Given the description of an element on the screen output the (x, y) to click on. 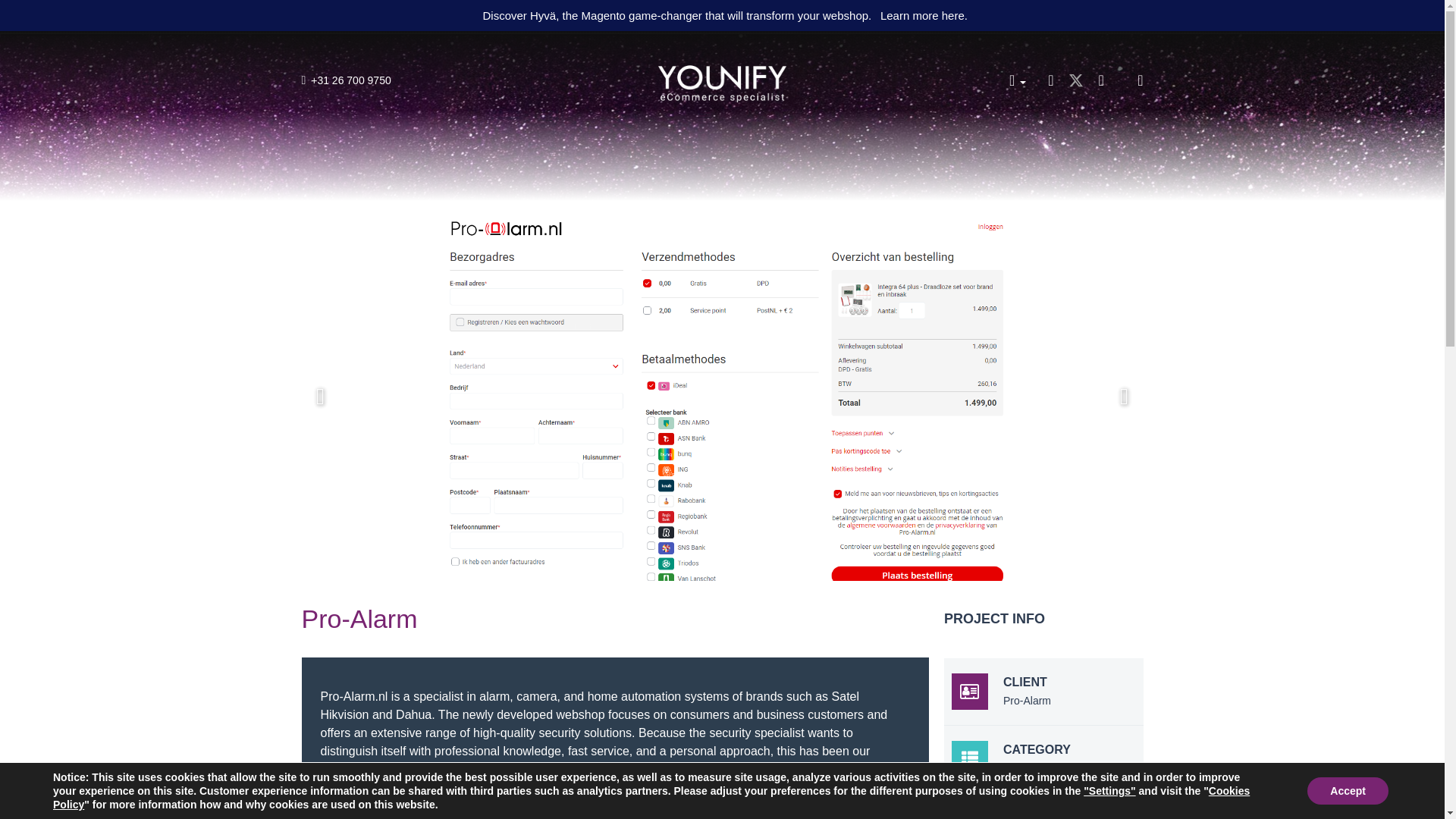
Cookies Policy (650, 797)
Accept (1348, 790)
"Settings" (1109, 790)
Learn more here. (924, 15)
Next (1123, 396)
Previous (320, 396)
